Given the description of an element on the screen output the (x, y) to click on. 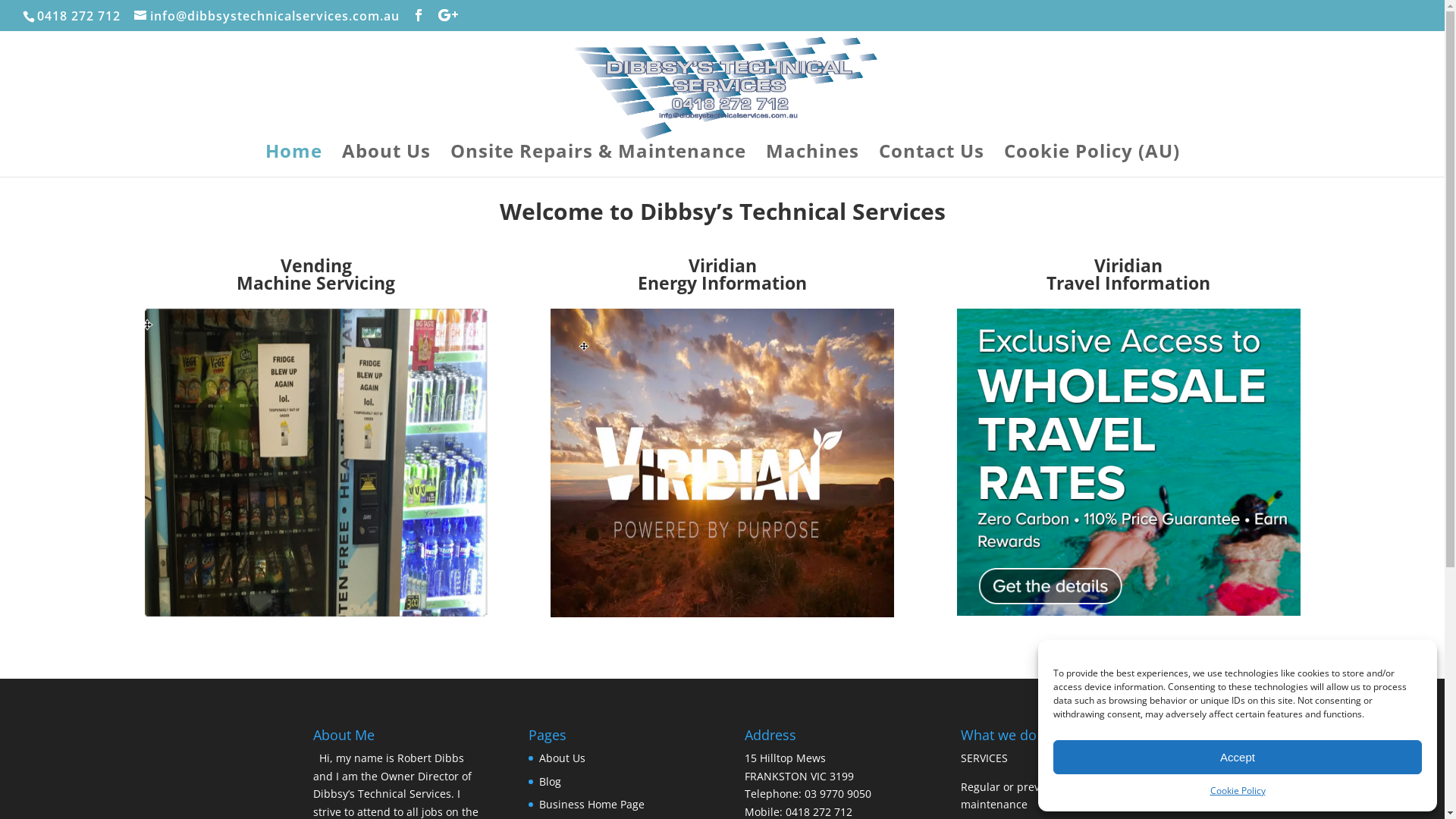
Accept Element type: text (1237, 757)
Viridian
Travel Information Element type: text (1128, 273)
Onsite Repairs & Maintenance Element type: text (598, 160)
info@dibbsystechnicalservices.com.au Element type: text (266, 15)
About Us Element type: text (562, 757)
Machines Element type: text (812, 160)
Vending
Machine Servicing Element type: text (315, 273)
Cookie Policy Element type: text (1237, 790)
Blog Element type: text (550, 781)
03 9770 9050 Element type: text (837, 793)
Cookie Policy (AU) Element type: text (1091, 160)
Business Home Page Element type: text (591, 804)
Contact Us Element type: text (930, 160)
Home Element type: text (293, 160)
Viridian
Energy Information Element type: text (721, 273)
About Us Element type: text (385, 160)
